Given the description of an element on the screen output the (x, y) to click on. 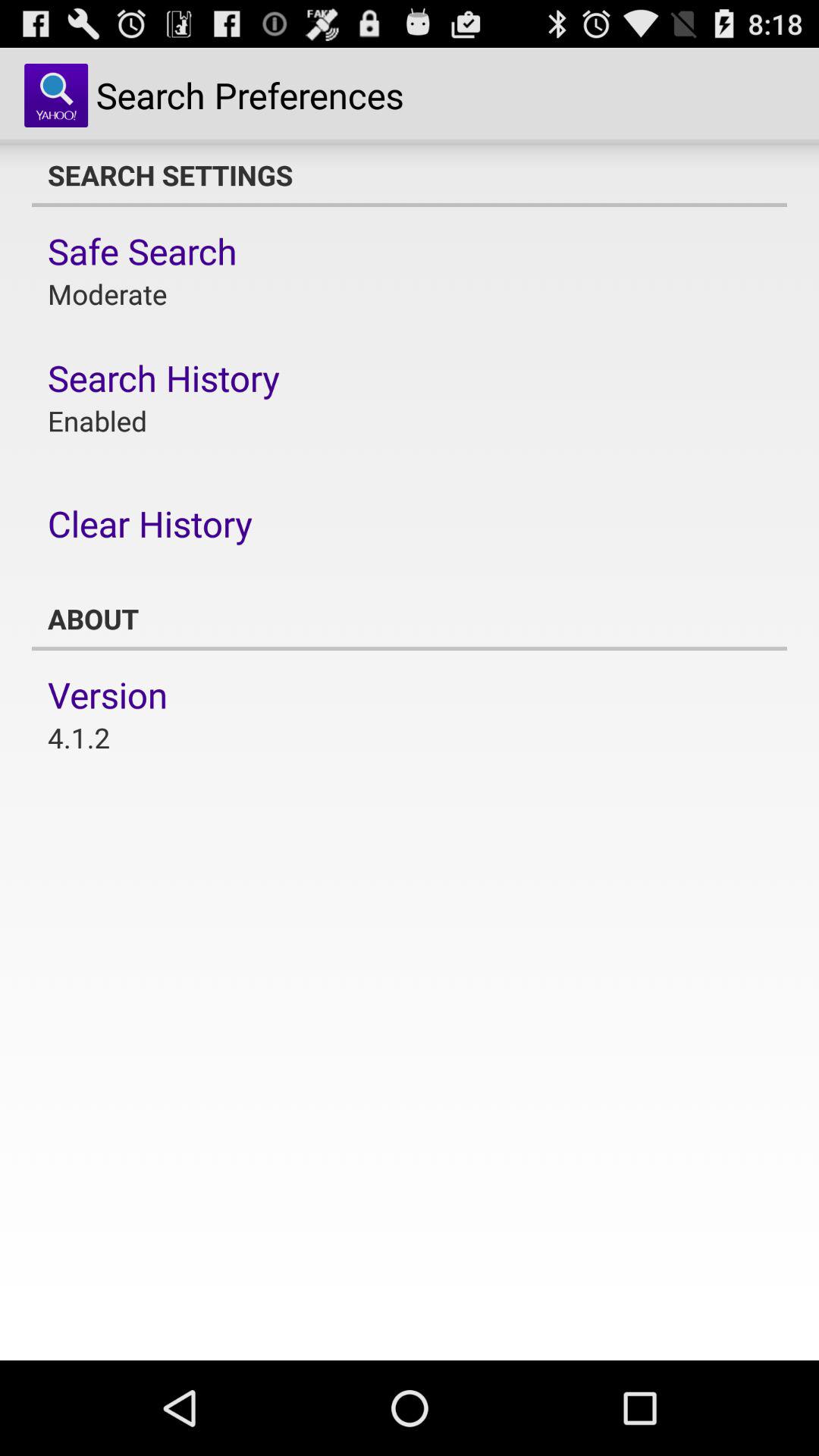
tap the app at the center (409, 618)
